Given the description of an element on the screen output the (x, y) to click on. 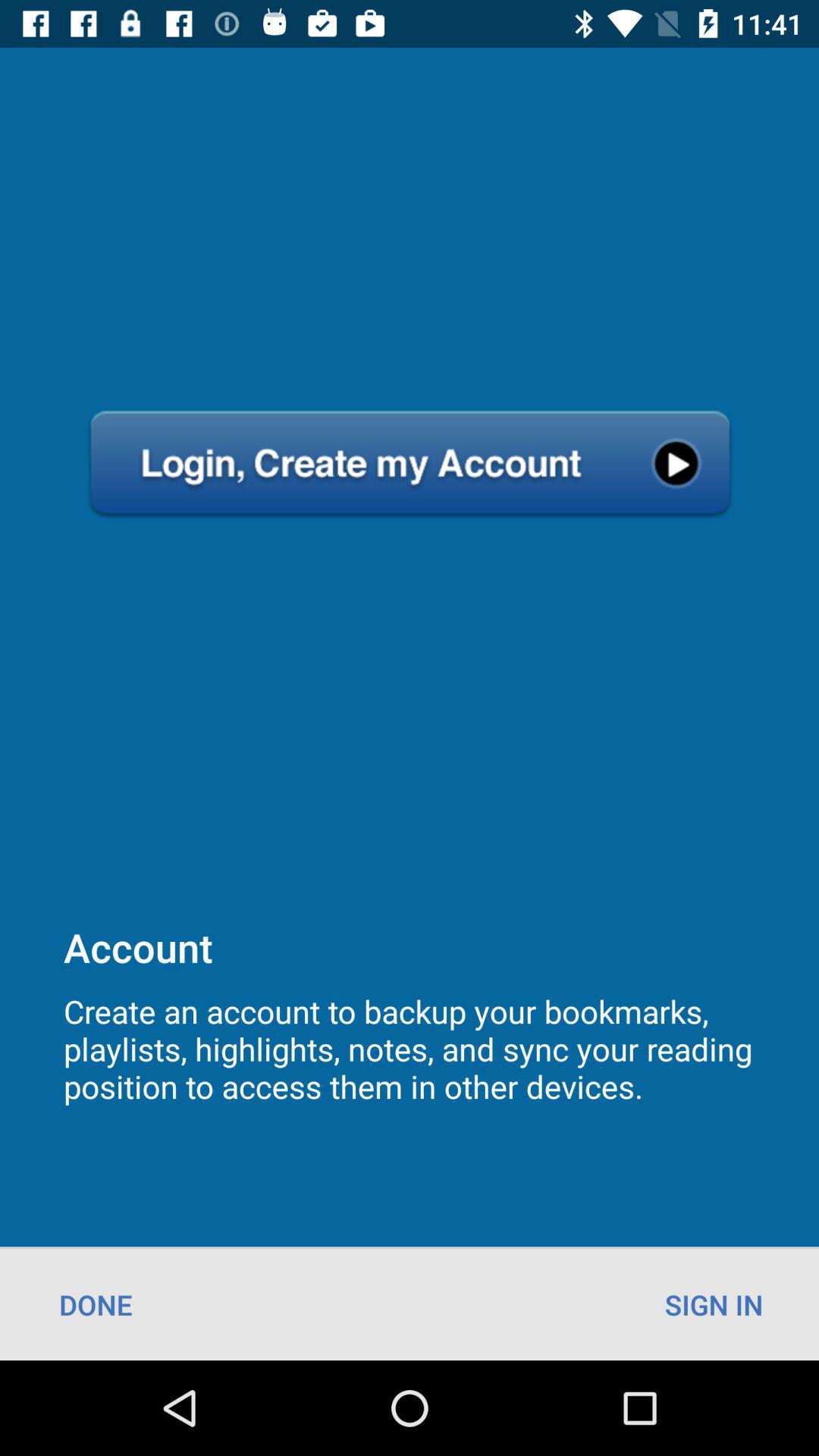
swipe to done item (95, 1304)
